Given the description of an element on the screen output the (x, y) to click on. 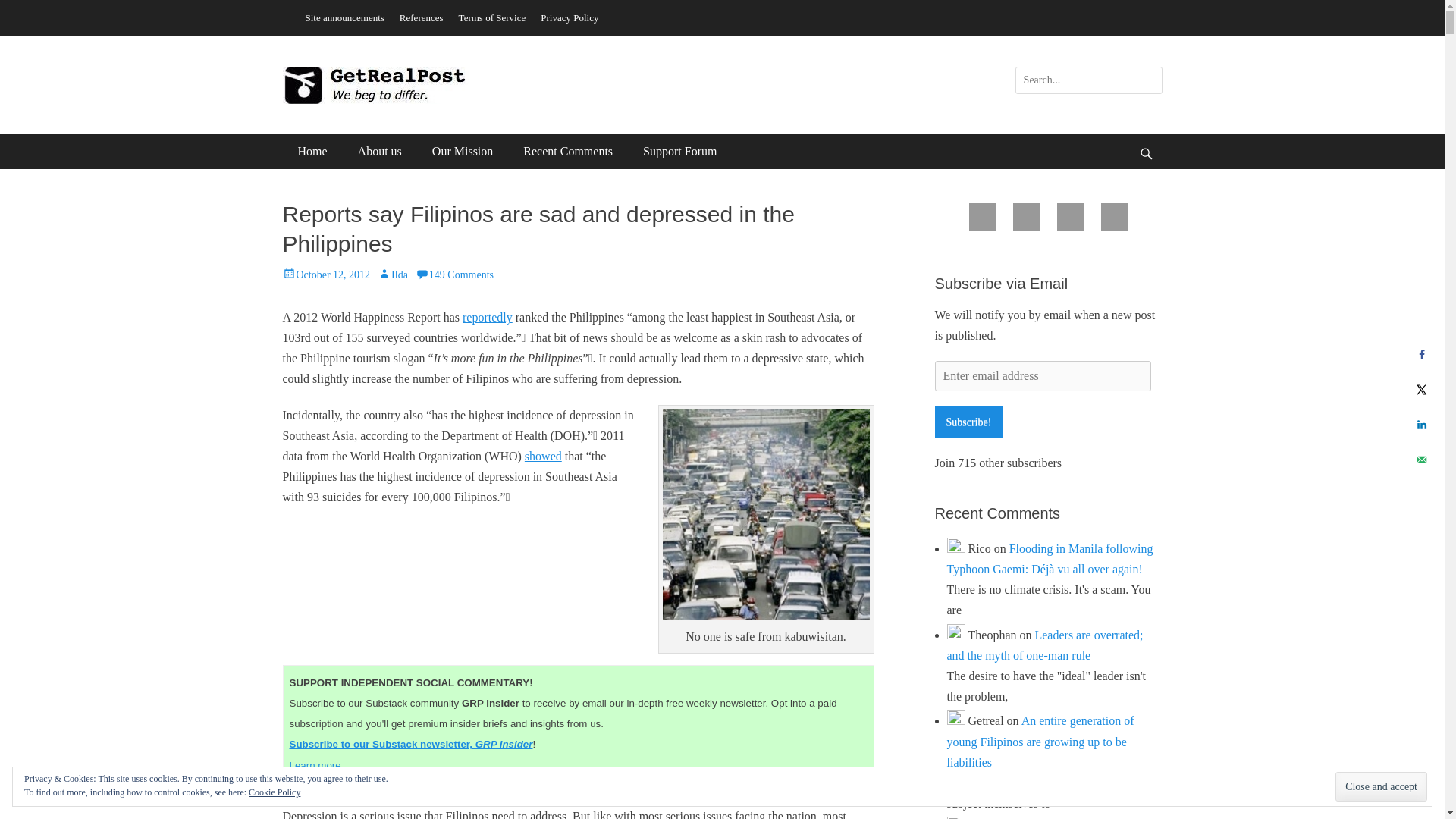
Privacy Policy (568, 17)
Support Forum (679, 151)
Home (312, 151)
Subscribe to our Substack newsletter, GRP Insider (410, 744)
References (421, 17)
Search for: (1087, 80)
About us (379, 151)
Ilda (392, 274)
Close and accept (1380, 786)
October 12, 2012 (325, 274)
149 Comments (453, 274)
showed (543, 455)
Site announcements (344, 17)
Terms of Service (492, 17)
